Given the description of an element on the screen output the (x, y) to click on. 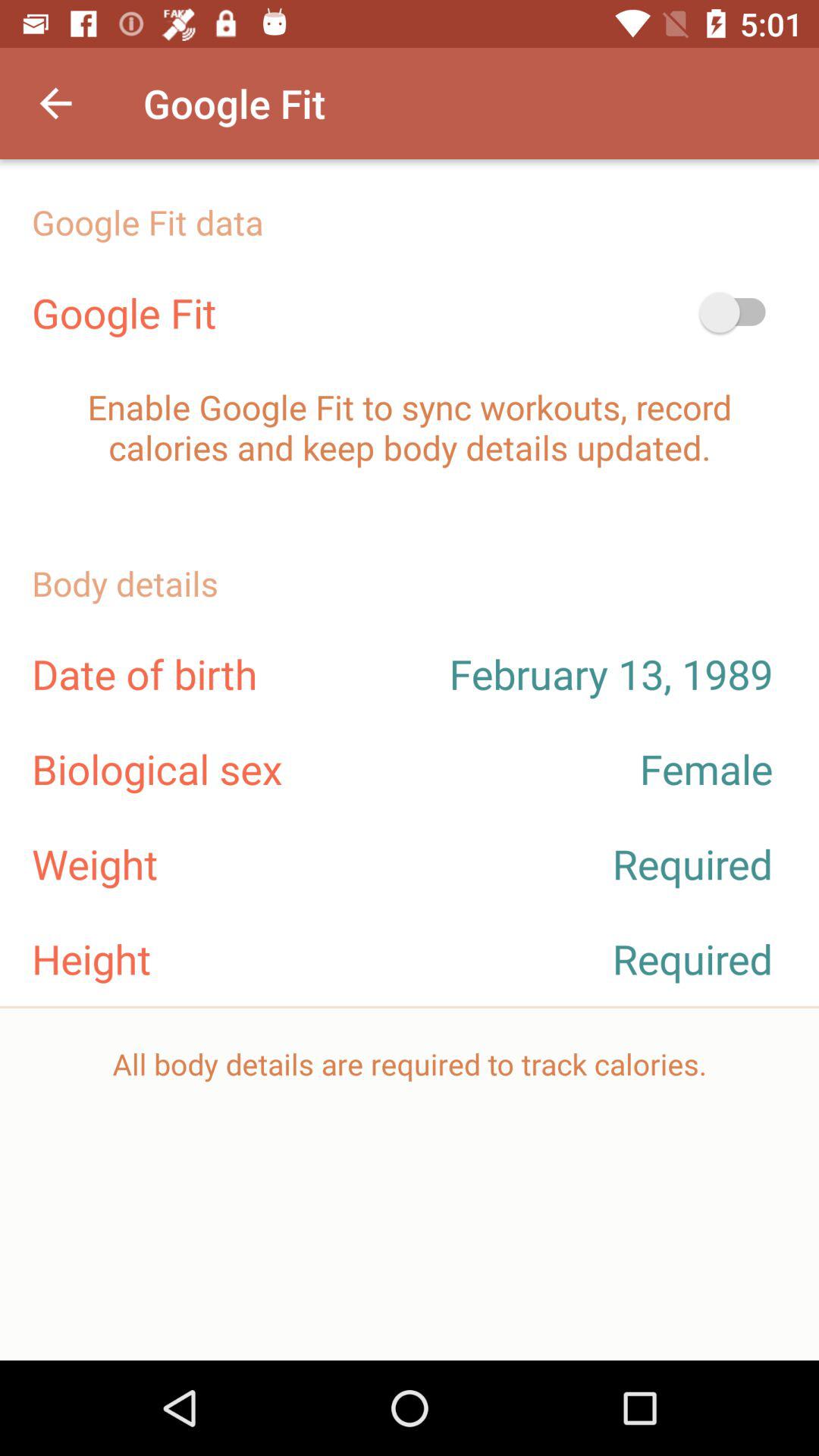
click the icon above enable google fit (739, 312)
